Given the description of an element on the screen output the (x, y) to click on. 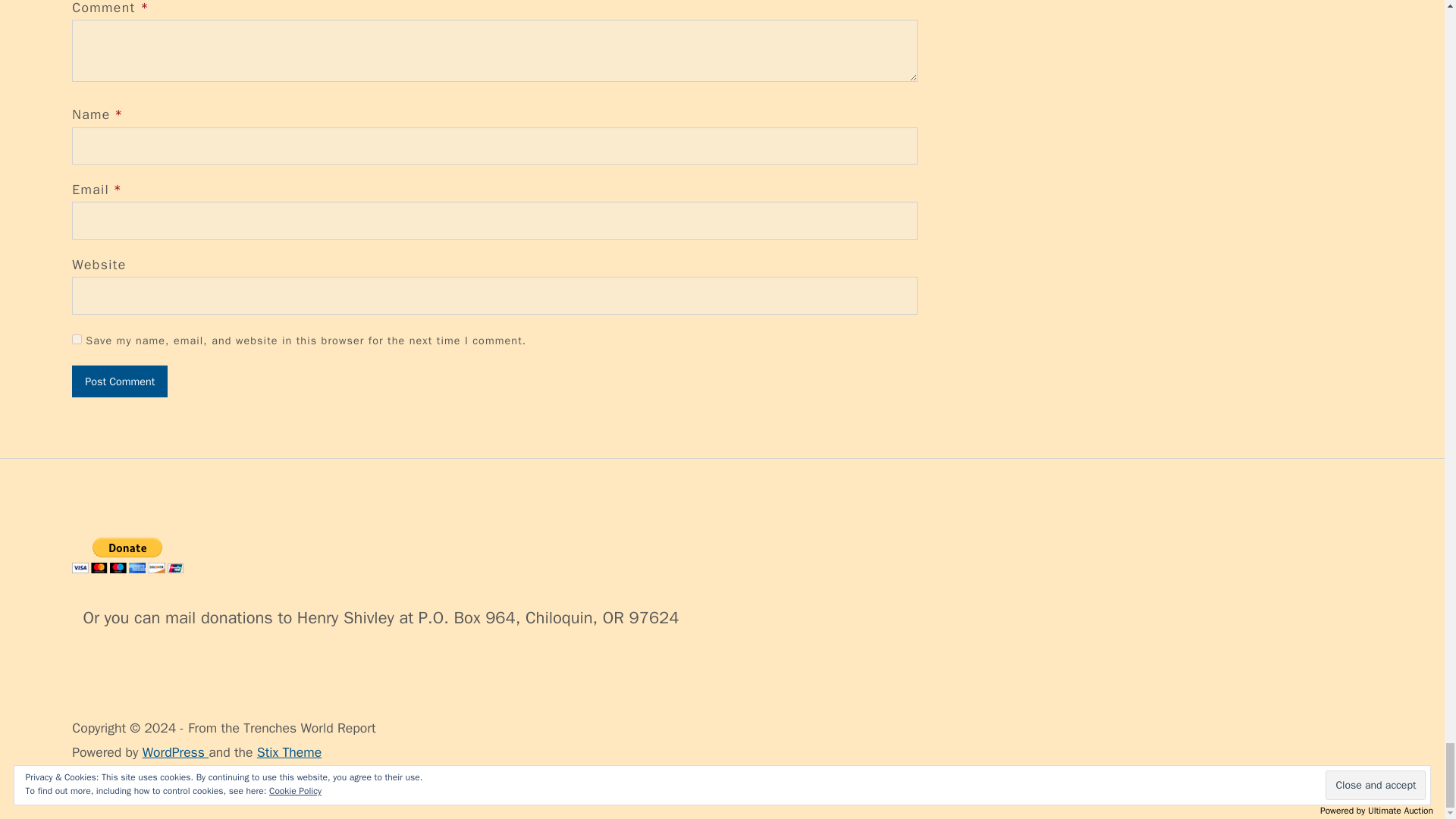
Post Comment (119, 381)
yes (76, 338)
